Given the description of an element on the screen output the (x, y) to click on. 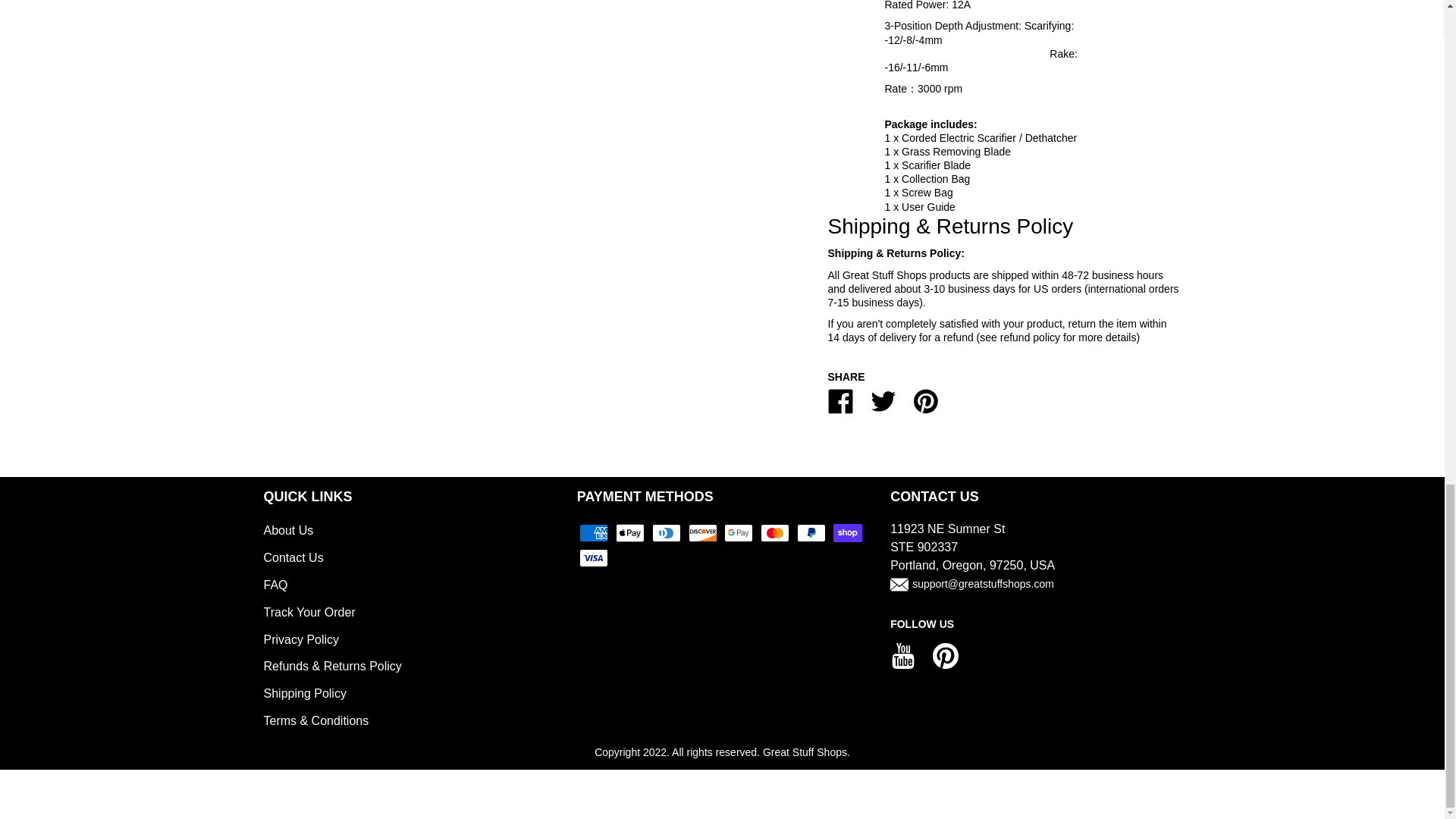
FAQ (275, 584)
Privacy Policy (301, 639)
Contact Us (293, 557)
Contact Us (293, 557)
FAQ (275, 584)
About Us (288, 530)
Privacy Policy (301, 639)
Track Your Order (309, 612)
About Us (288, 530)
Shipping Policy (304, 693)
Track Your Order (309, 612)
